Given the description of an element on the screen output the (x, y) to click on. 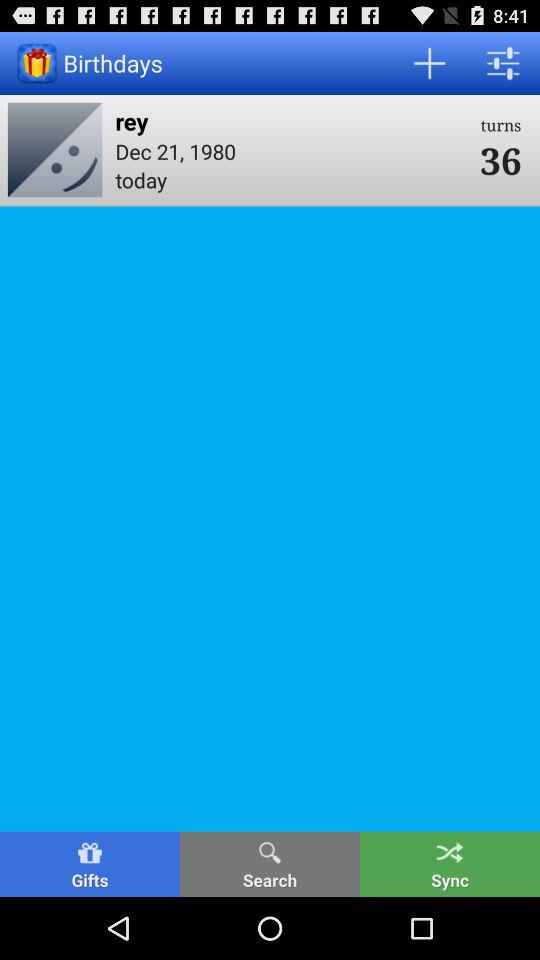
click button above the gifts button (54, 149)
